Given the description of an element on the screen output the (x, y) to click on. 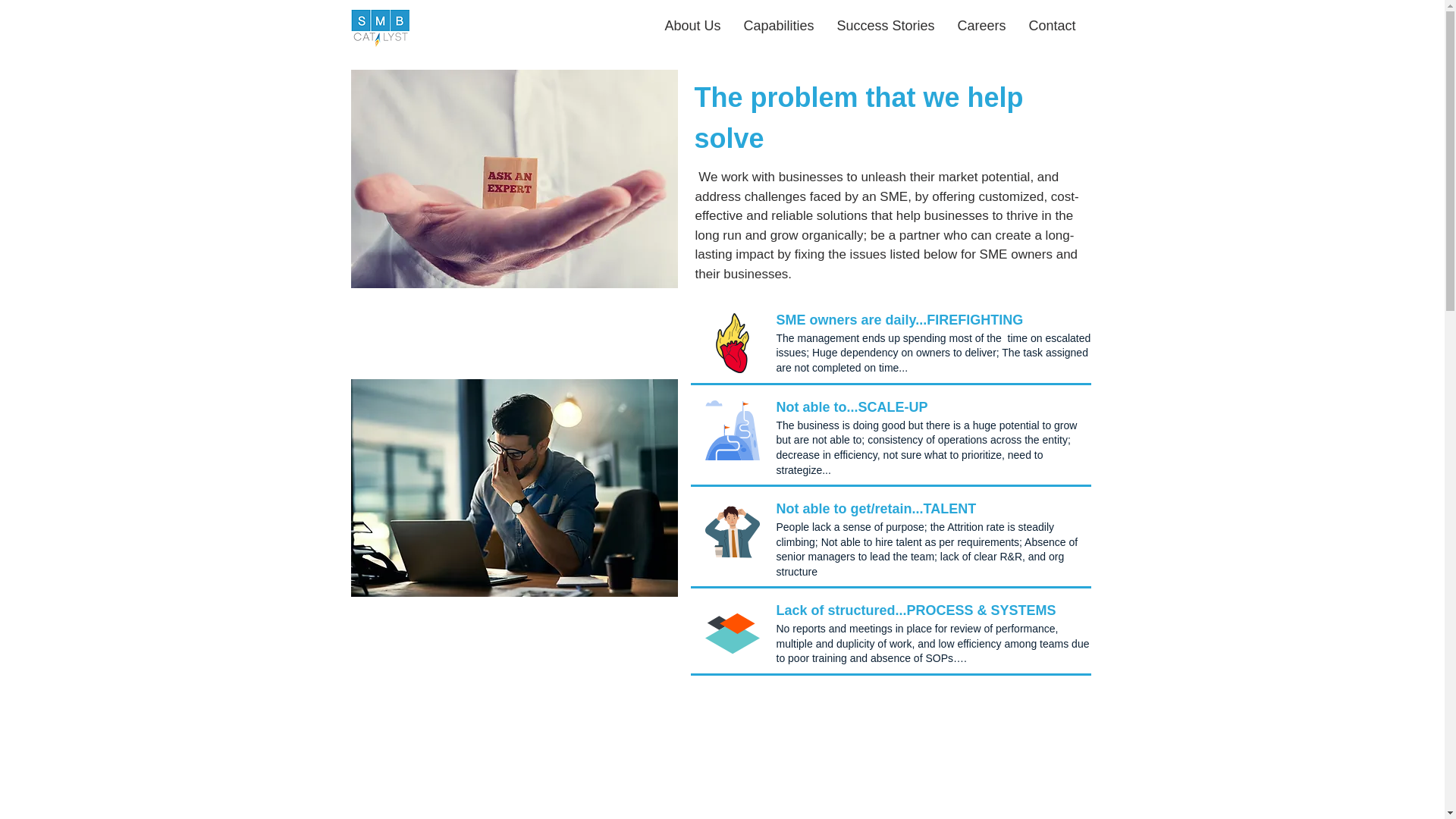
About Us (692, 25)
Capabilities (778, 25)
Contact (1052, 25)
Careers (981, 25)
Success Stories (884, 25)
